Given the description of an element on the screen output the (x, y) to click on. 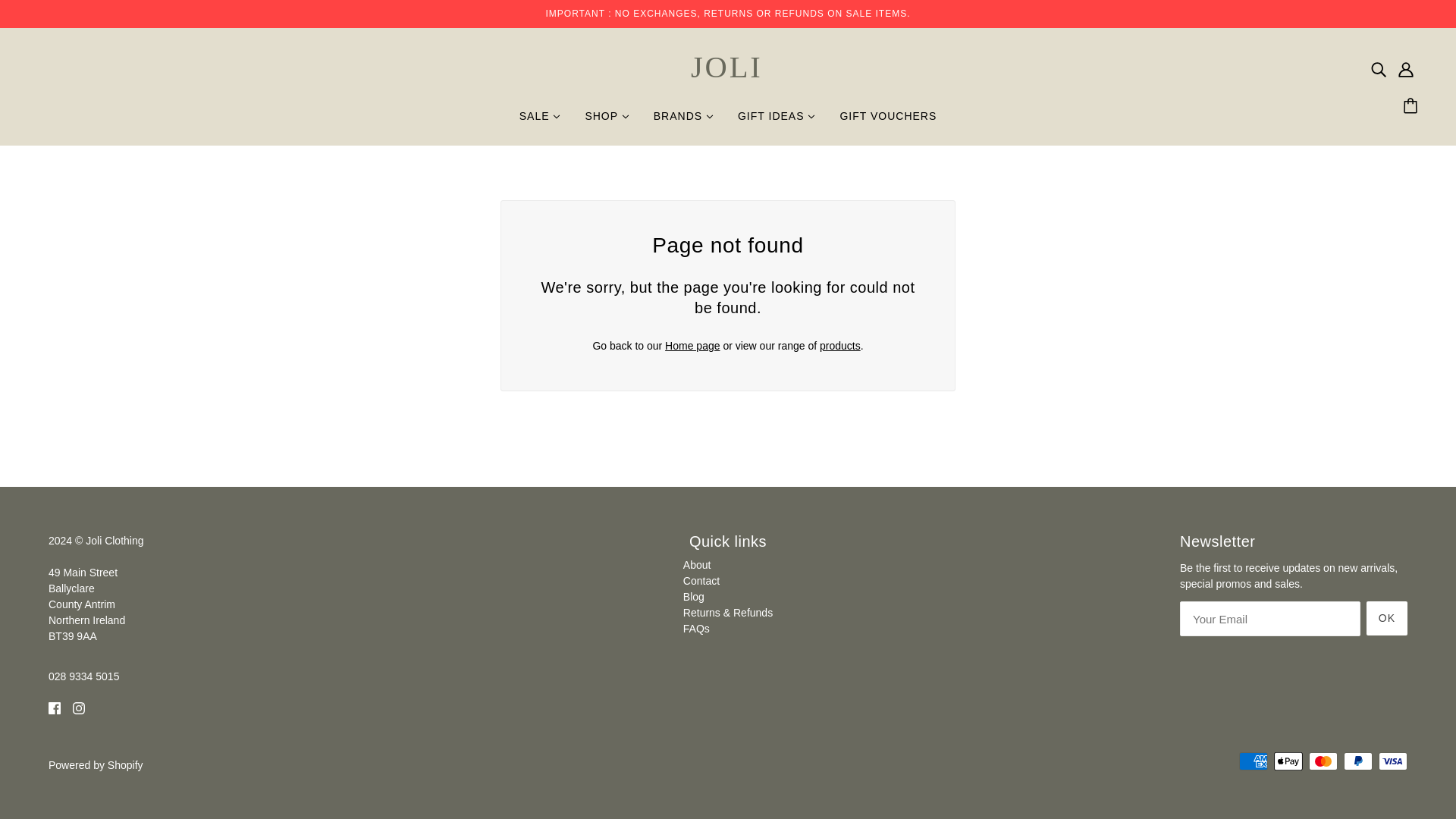
Blog (693, 596)
Contact (700, 580)
About (696, 564)
SALE  (539, 121)
SHOP  (606, 121)
BRANDS  (683, 121)
FAQs (696, 628)
JoliClothing (727, 81)
